Given the description of an element on the screen output the (x, y) to click on. 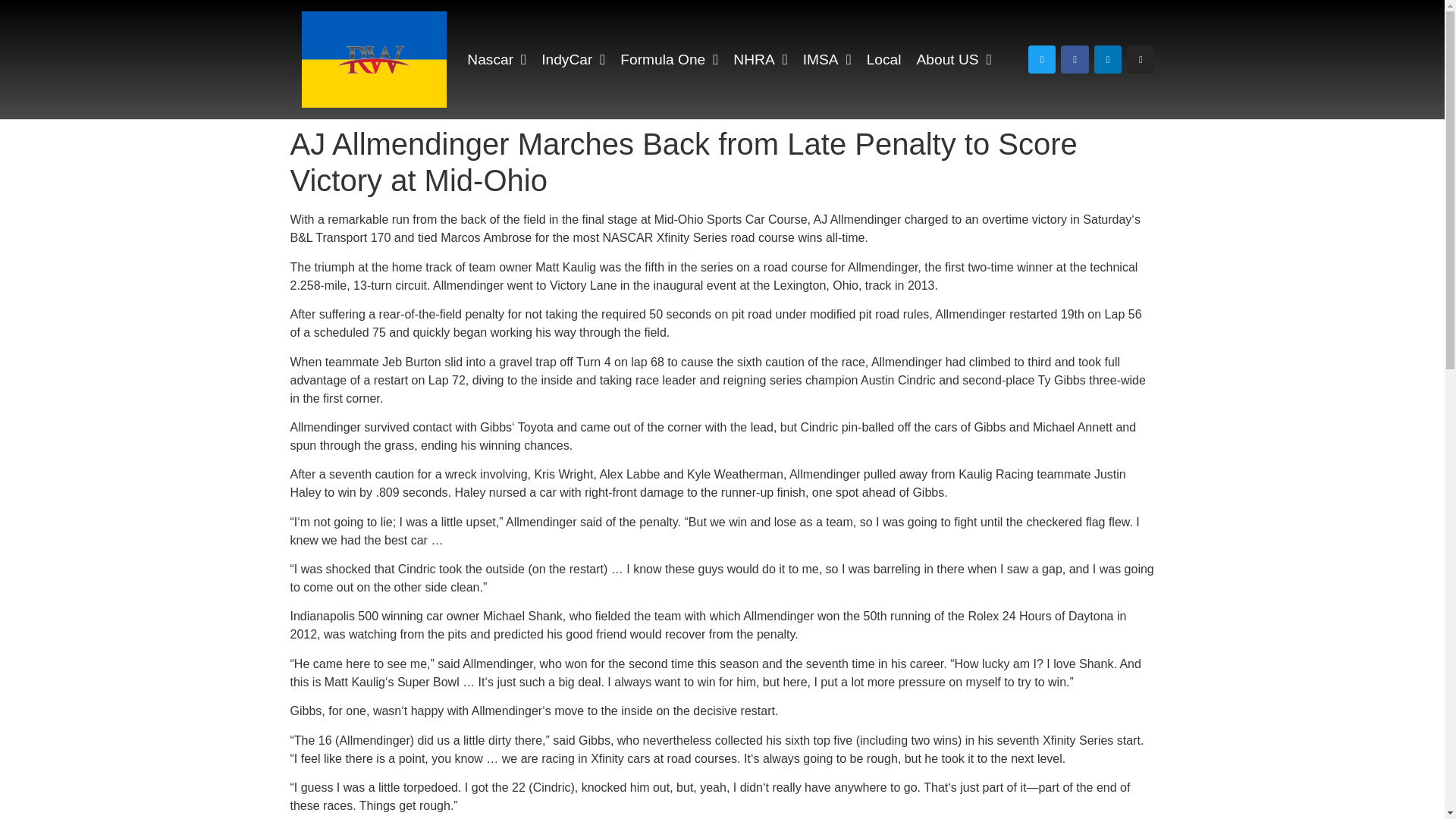
IndyCar (572, 59)
Nascar (496, 59)
